Given the description of an element on the screen output the (x, y) to click on. 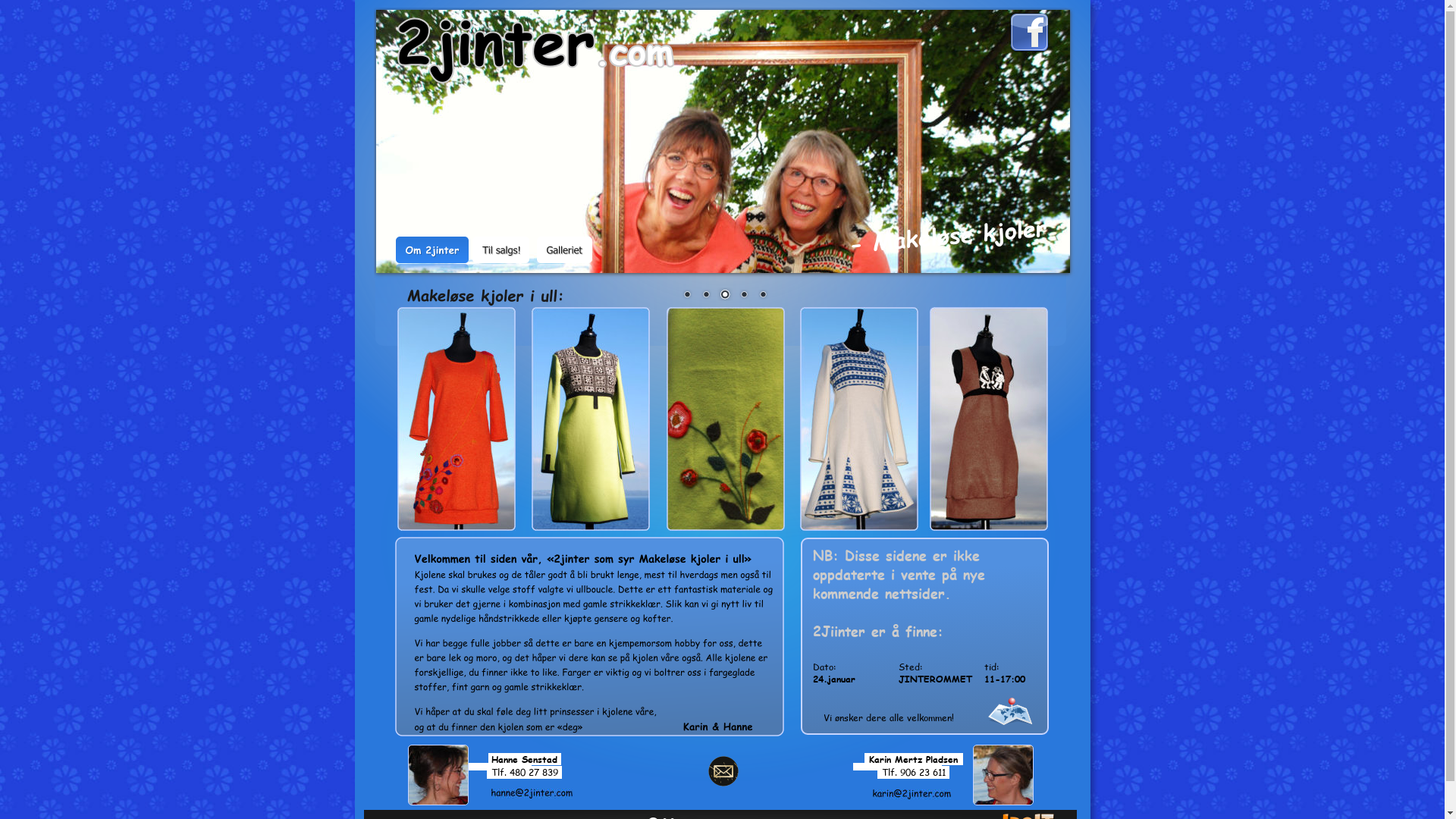
5 Element type: text (762, 295)
3 Element type: text (724, 295)
2j Facebook gruppe Element type: hover (1029, 32)
POSTKASSE Element type: hover (723, 771)
2 Element type: text (705, 295)
4 Element type: text (743, 295)
1 Element type: text (686, 295)
HER FINNER DU OSS! Element type: hover (1013, 711)
